Given the description of an element on the screen output the (x, y) to click on. 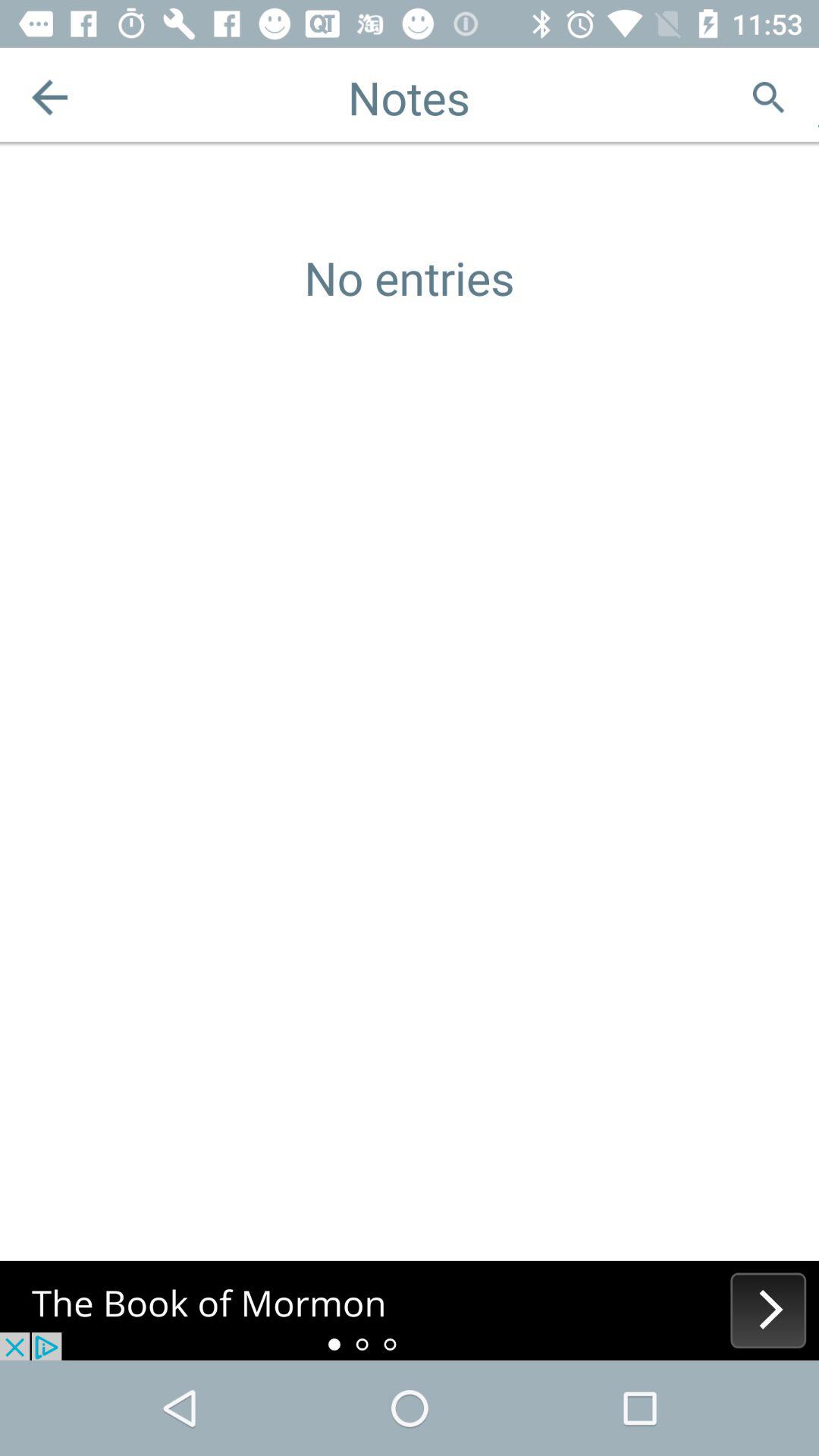
for the search option (768, 97)
